Given the description of an element on the screen output the (x, y) to click on. 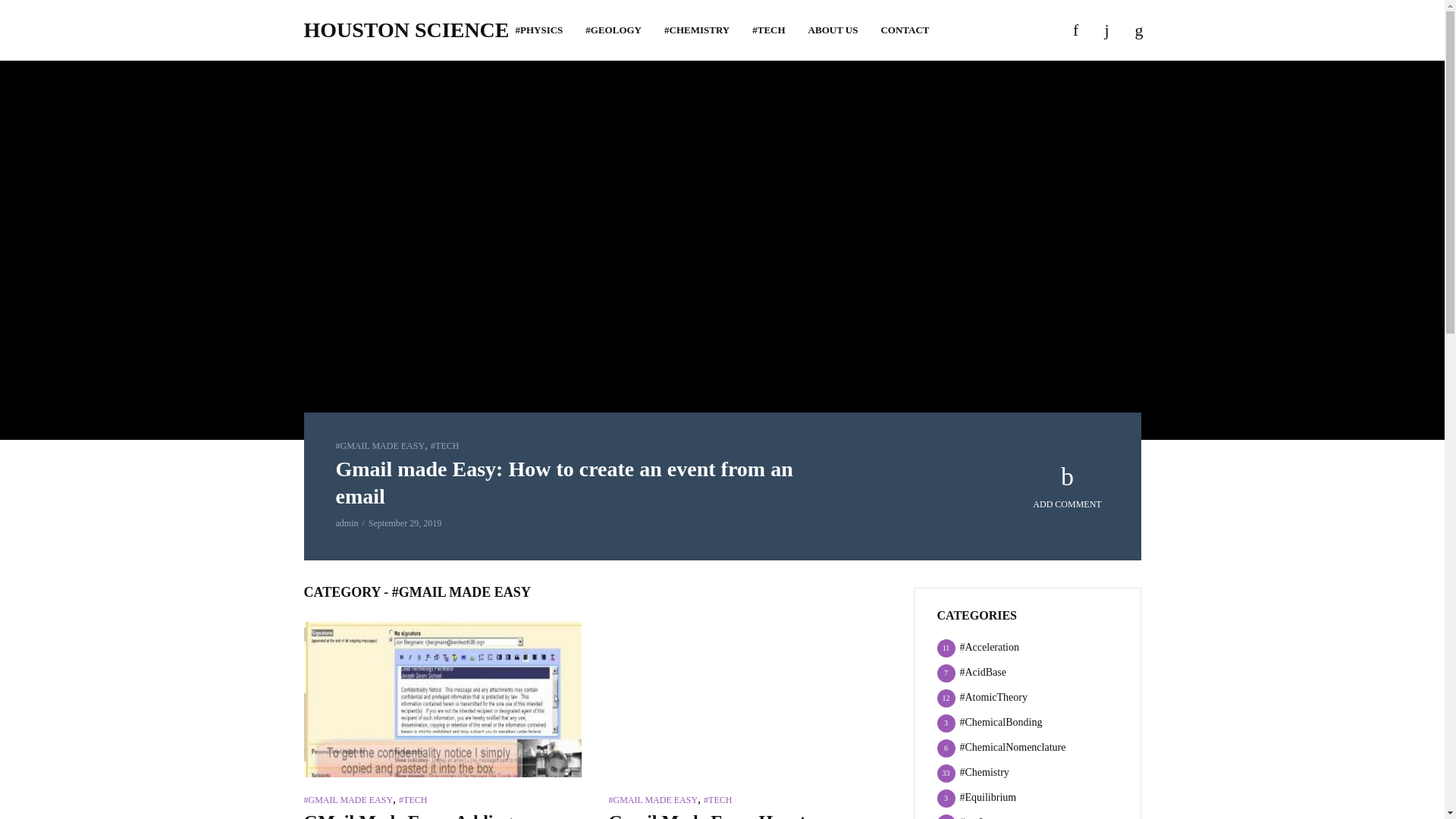
GMail Made Easy:  Adding a Signature (441, 699)
CONTACT (904, 30)
HOUSTON SCIENCE (405, 29)
Gmail Made Easy:  How to use labels (746, 699)
ABOUT US (832, 30)
